Given the description of an element on the screen output the (x, y) to click on. 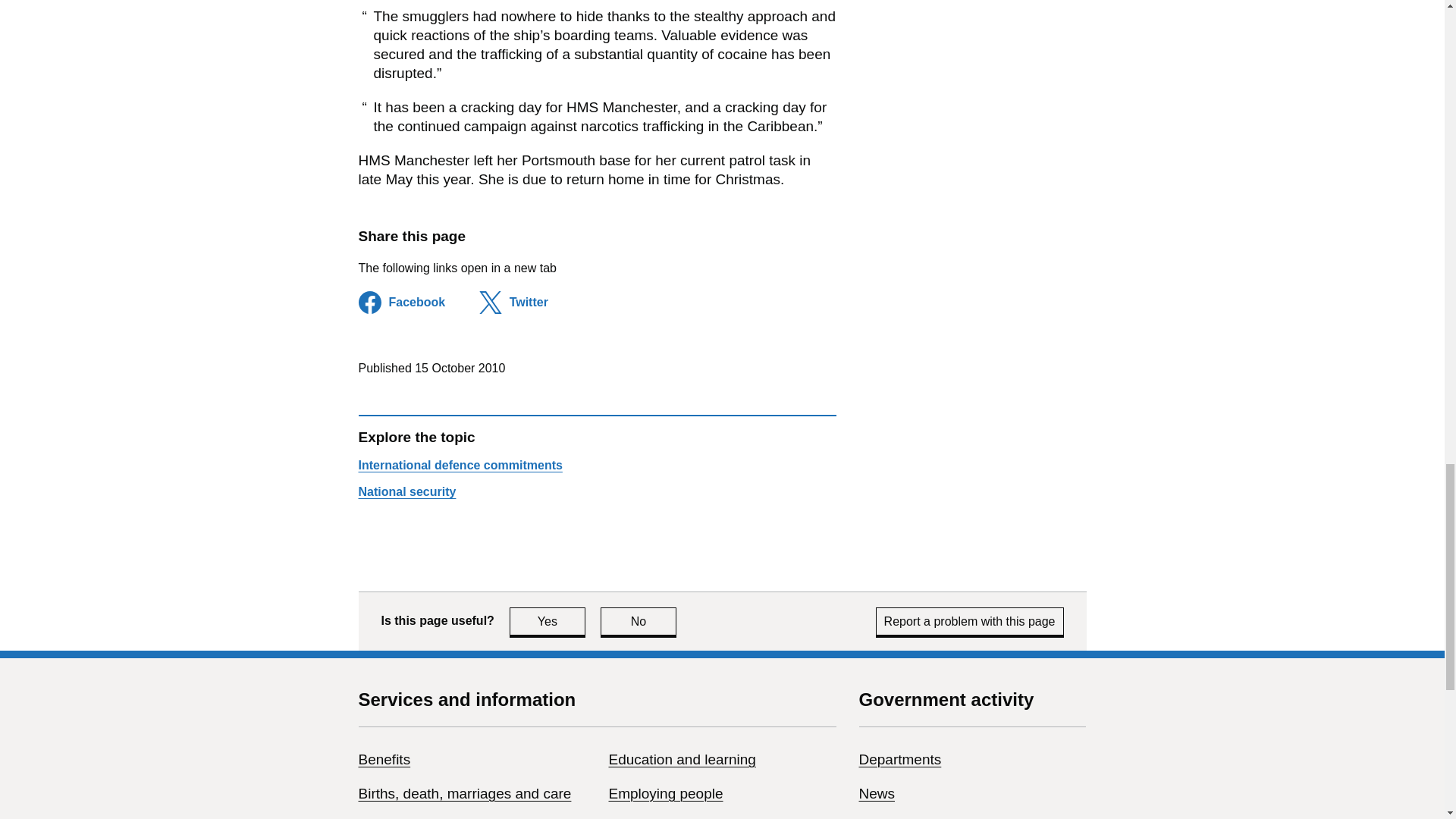
National security (547, 621)
Births, death, marriages and care (406, 491)
Departments (464, 793)
Report a problem with this page (899, 759)
International defence commitments (970, 621)
Benefits (460, 464)
Education and learning (638, 621)
News (384, 759)
